Given the description of an element on the screen output the (x, y) to click on. 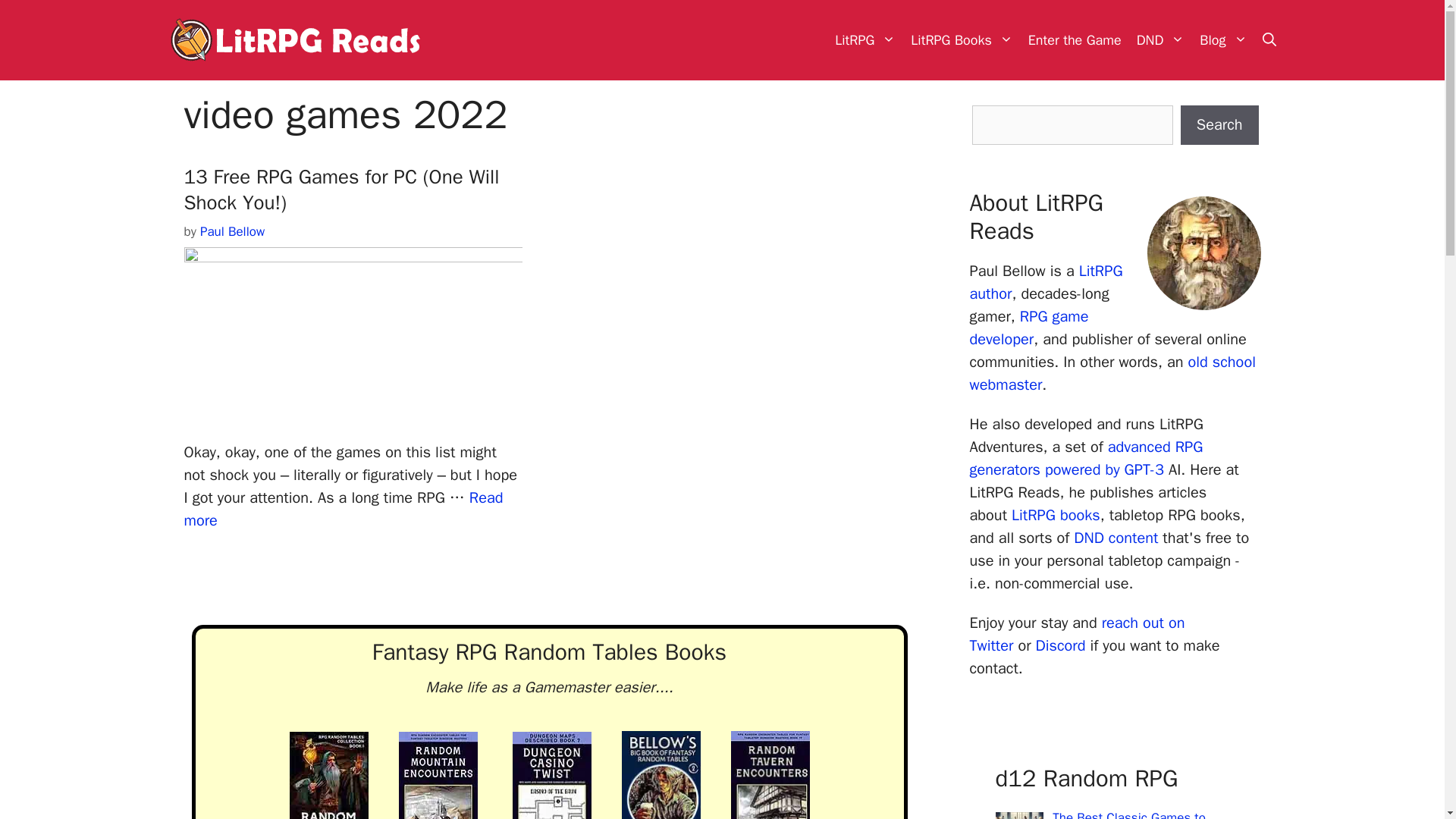
LitRPG (864, 39)
DND (1160, 39)
Enter the Game (1074, 39)
Blog (1222, 39)
LitRPG Books (961, 39)
View all posts by Paul Bellow (232, 231)
